Given the description of an element on the screen output the (x, y) to click on. 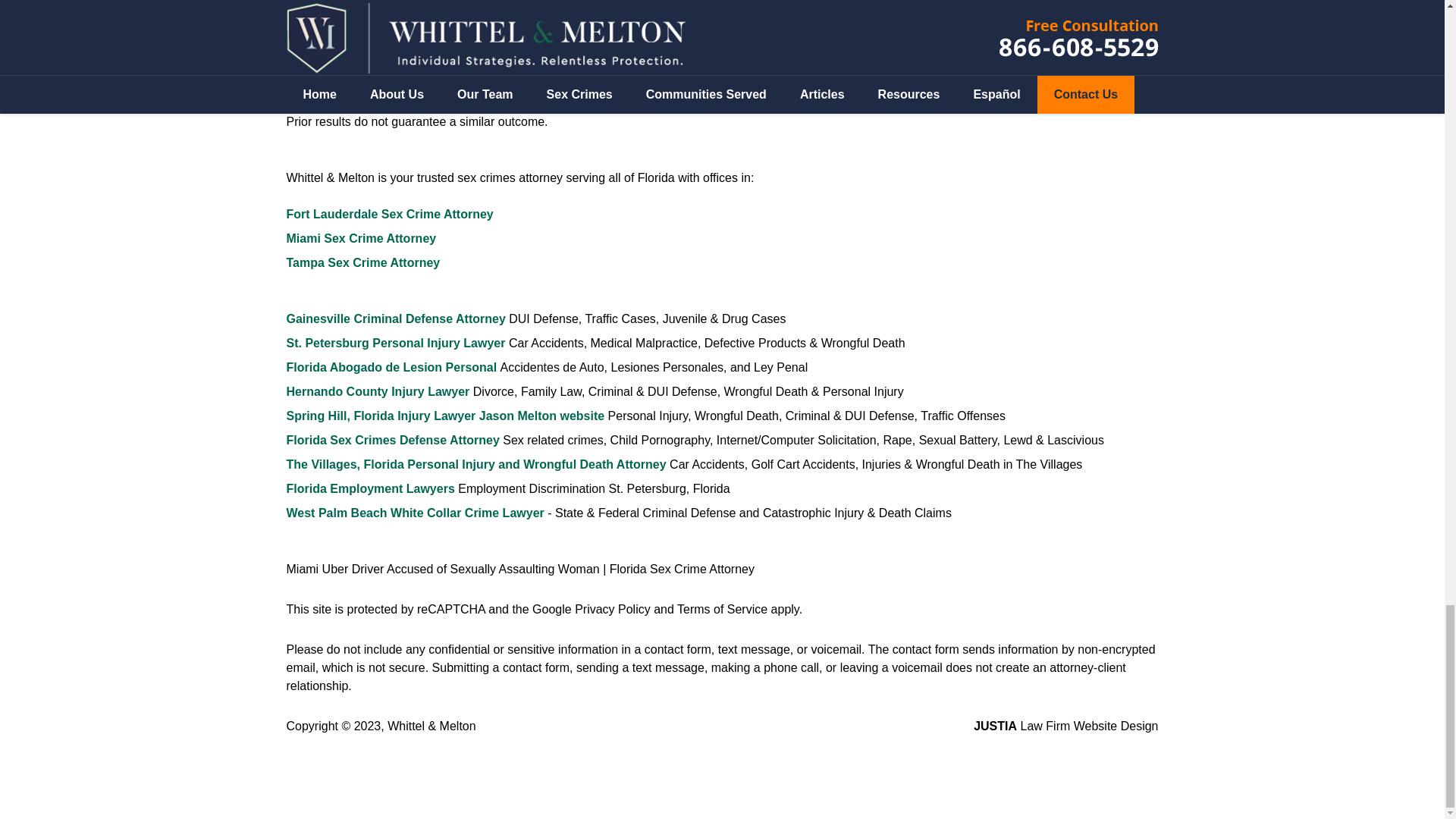
Instagram (458, 10)
Justia (418, 10)
LinkedIn (381, 10)
Twitter (341, 10)
Facebook (303, 10)
